Given the description of an element on the screen output the (x, y) to click on. 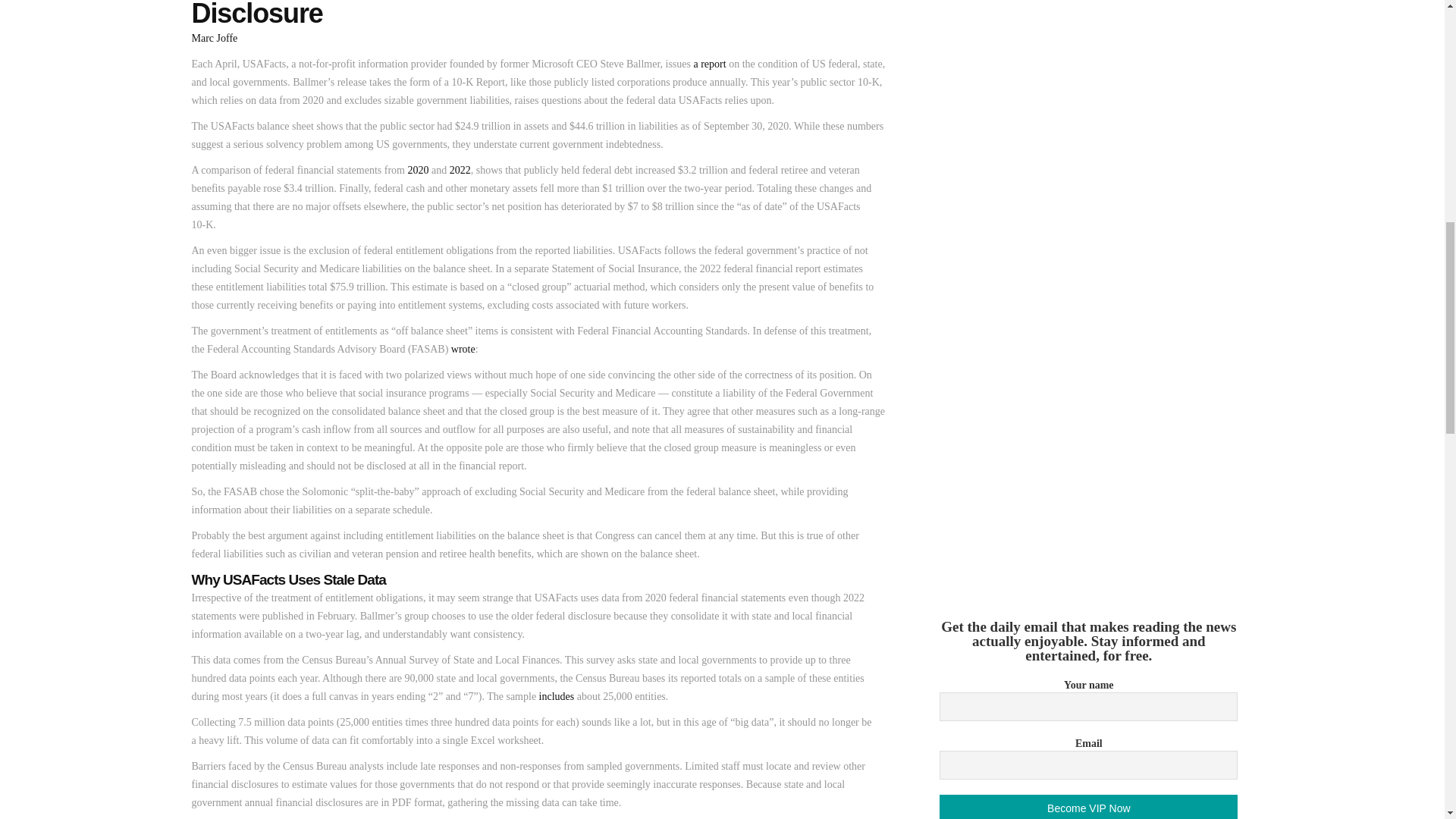
Become VIP Now (1088, 806)
2020 (417, 170)
includes (556, 696)
a report (709, 63)
2022 (459, 170)
Marc Joffe (213, 38)
wrote (463, 348)
